Given the description of an element on the screen output the (x, y) to click on. 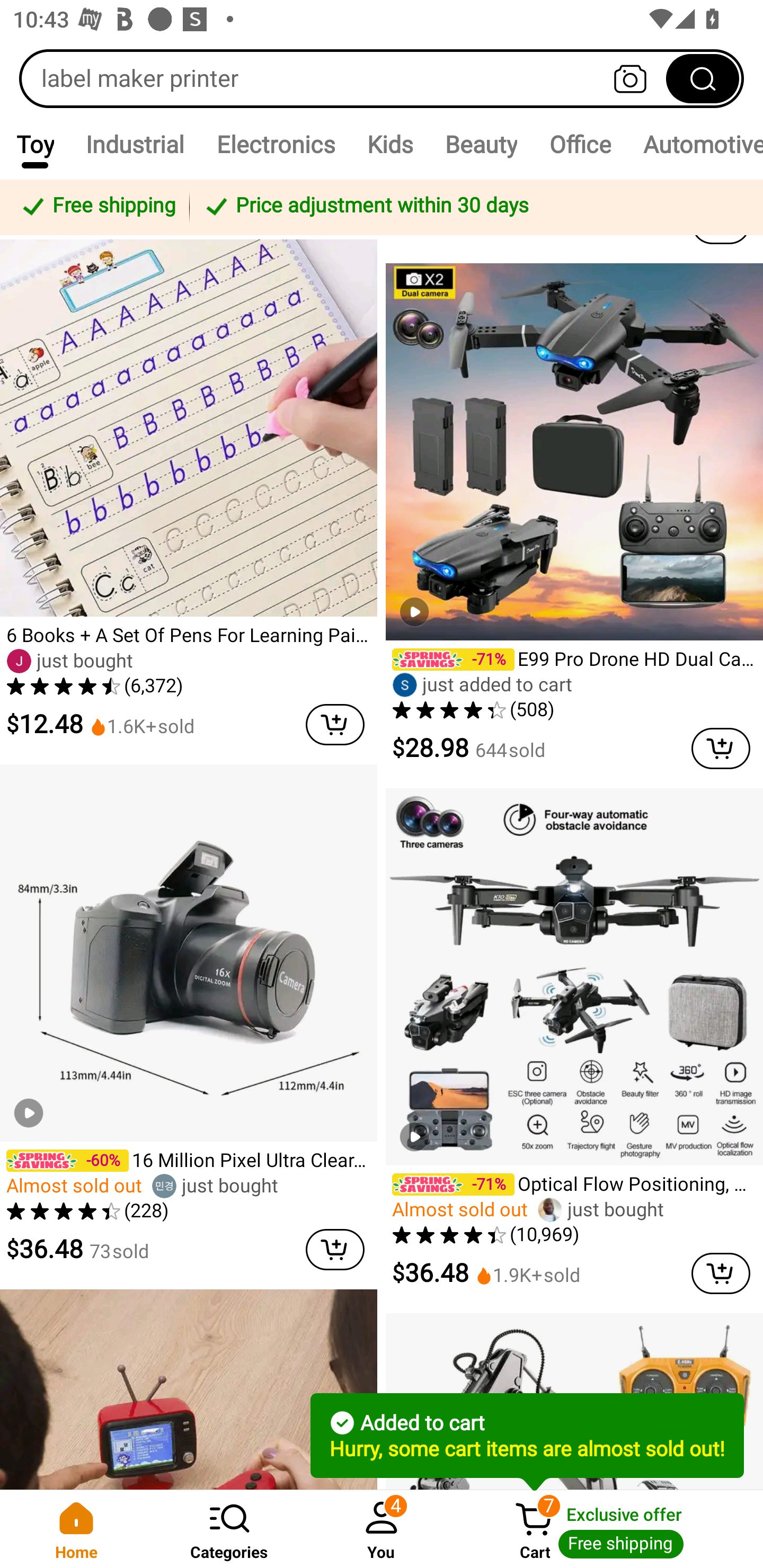
label maker printer (381, 78)
Toy (35, 144)
Industrial (134, 144)
Electronics (274, 144)
Kids (389, 144)
Beauty (480, 144)
Office (580, 144)
Automotive (695, 144)
Free shipping (97, 206)
Price adjustment within 30 days (472, 206)
cart delete (334, 724)
cart delete (720, 748)
cart delete (334, 1249)
cart delete (720, 1272)
Home (76, 1528)
Categories (228, 1528)
You 4 You (381, 1528)
Cart 7 Cart Exclusive offer (610, 1528)
